Given the description of an element on the screen output the (x, y) to click on. 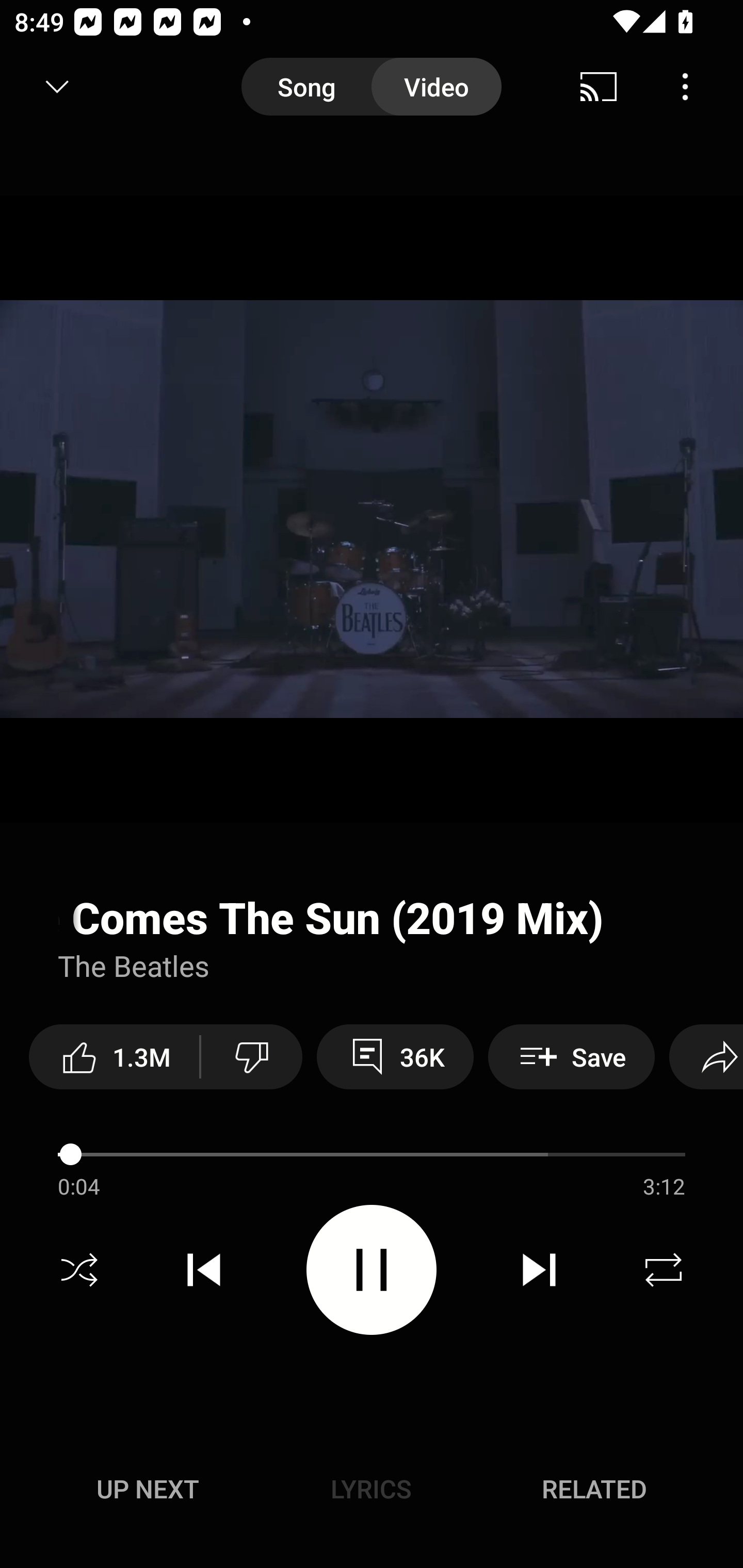
Back (50, 86)
Cast. Disconnected (598, 86)
Menu (684, 86)
Dislike (251, 1056)
36K View 36,827 comments (395, 1056)
Save Save to playlist (571, 1056)
Share (706, 1056)
Pause video (371, 1269)
Shuffle off (79, 1269)
Previous track (203, 1269)
Next track (538, 1269)
Repeat off (663, 1269)
Up next UP NEXT Lyrics LYRICS Related RELATED (371, 1491)
Lyrics LYRICS (370, 1488)
Related RELATED (594, 1488)
